Given the description of an element on the screen output the (x, y) to click on. 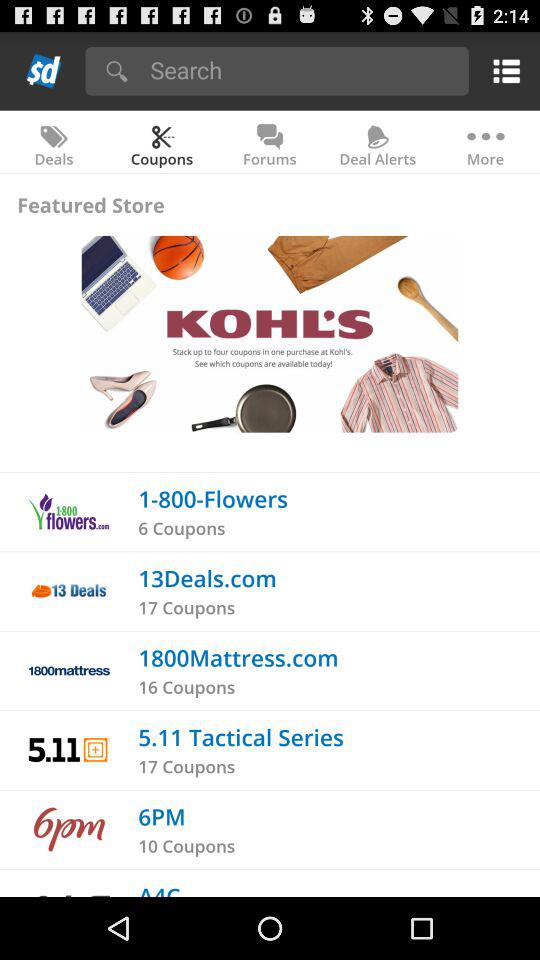
turn on app above the 17 coupons (207, 578)
